Given the description of an element on the screen output the (x, y) to click on. 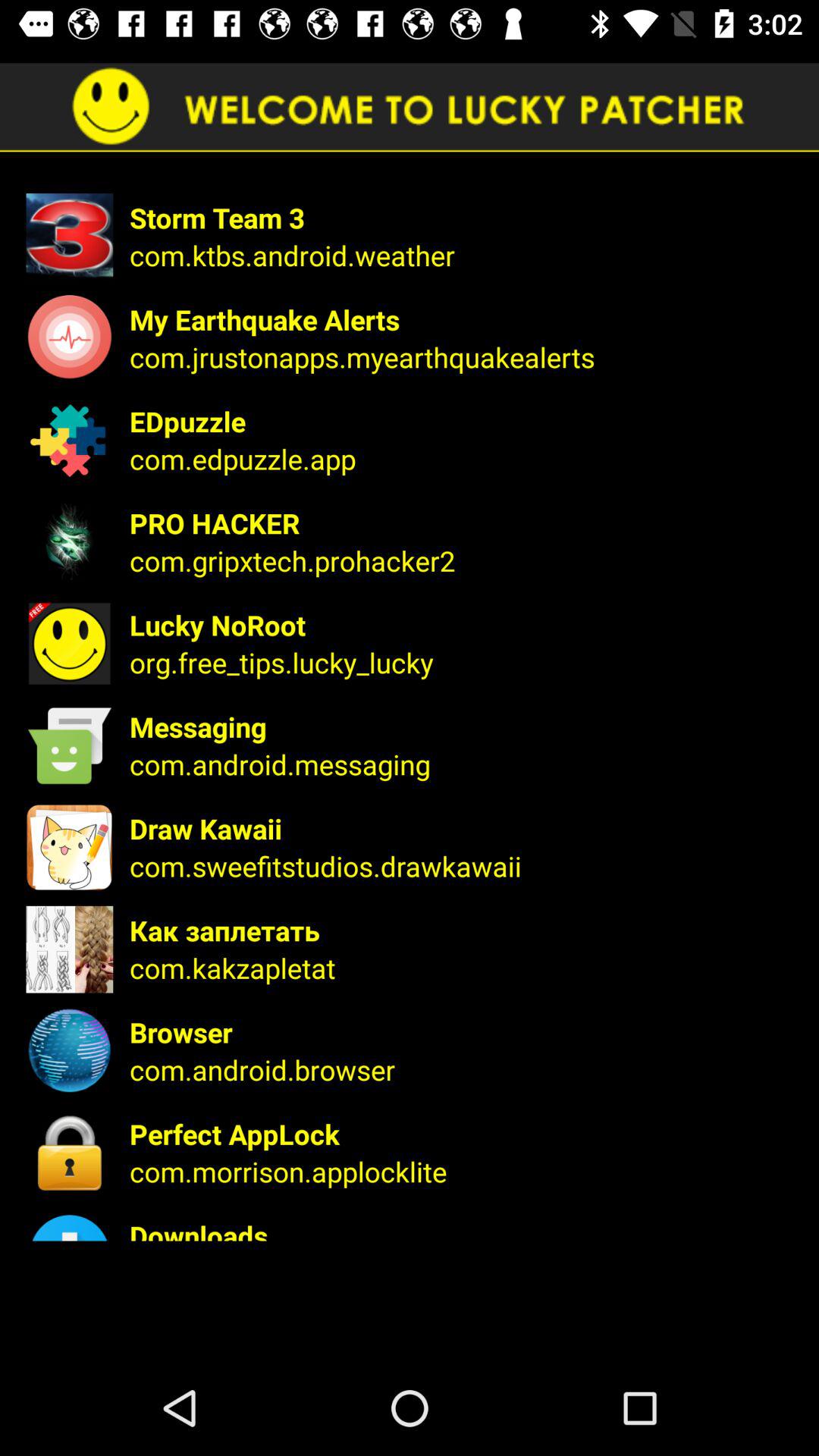
open the perfect applock app (464, 1133)
